Given the description of an element on the screen output the (x, y) to click on. 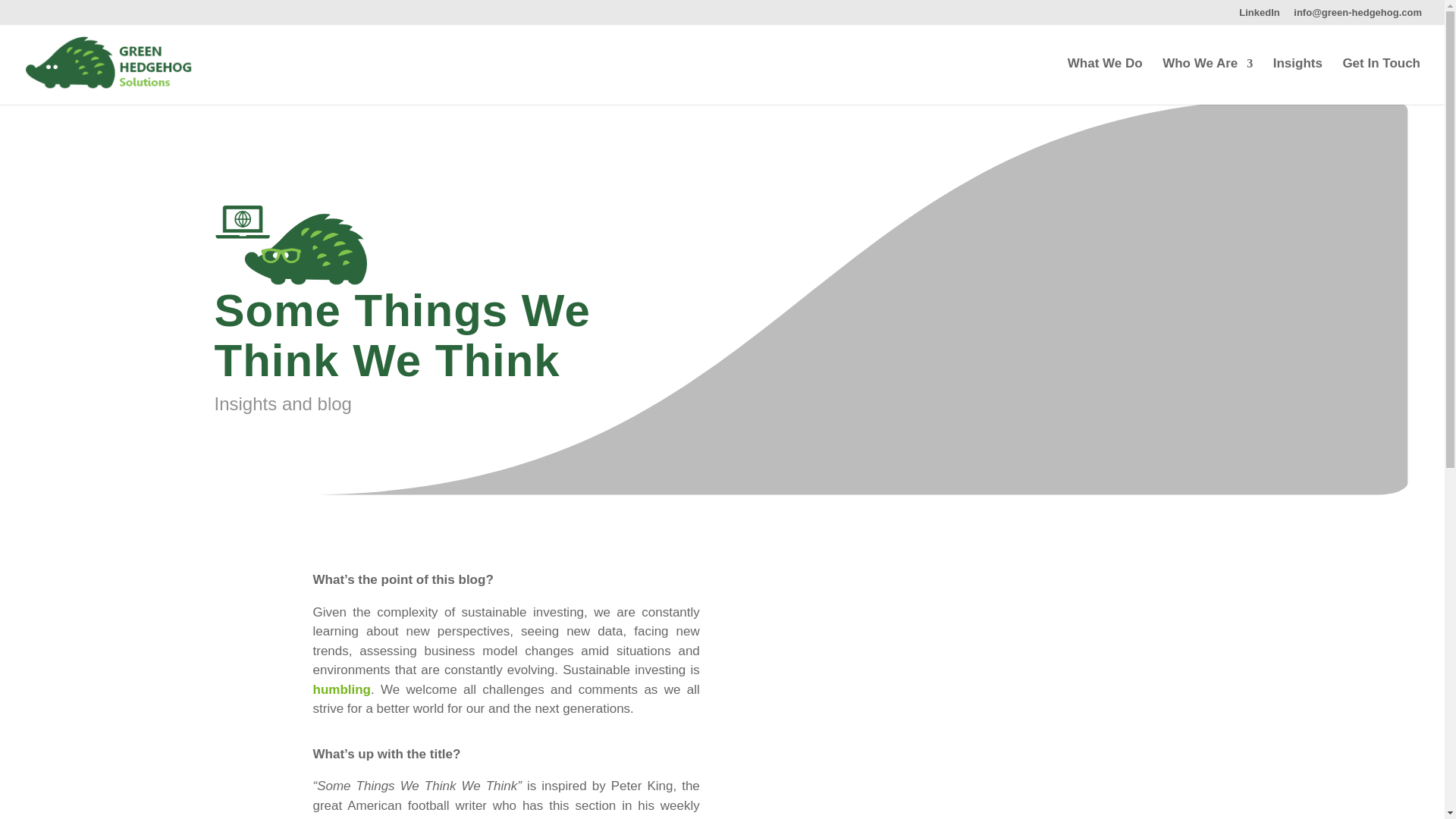
LinkedIn (1259, 16)
Insights (1297, 81)
Who We Are (1206, 81)
What We Do (1104, 81)
hedgehoginsights (290, 239)
Get In Touch (1381, 81)
